Given the description of an element on the screen output the (x, y) to click on. 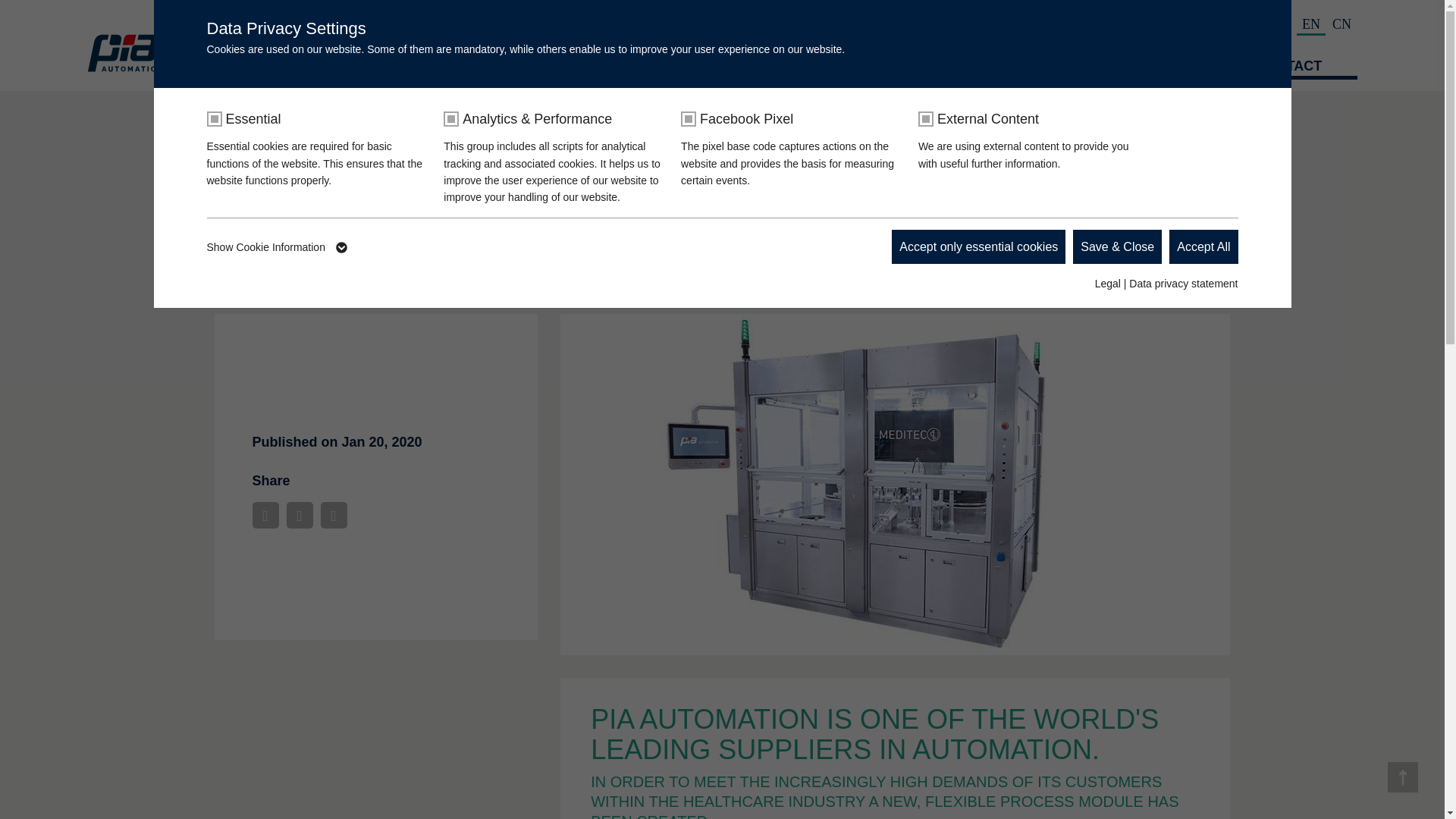
Events (1160, 24)
Facebook (264, 515)
CN (1341, 23)
HOME (446, 67)
Scroll up (1402, 777)
Linkedin (333, 515)
INDUSTRIES (587, 67)
EN (1310, 23)
Twitter (299, 515)
News (1114, 24)
DE (1280, 23)
TECHNOLOGY (727, 67)
Presse (1070, 24)
Downloads (1221, 24)
